Given the description of an element on the screen output the (x, y) to click on. 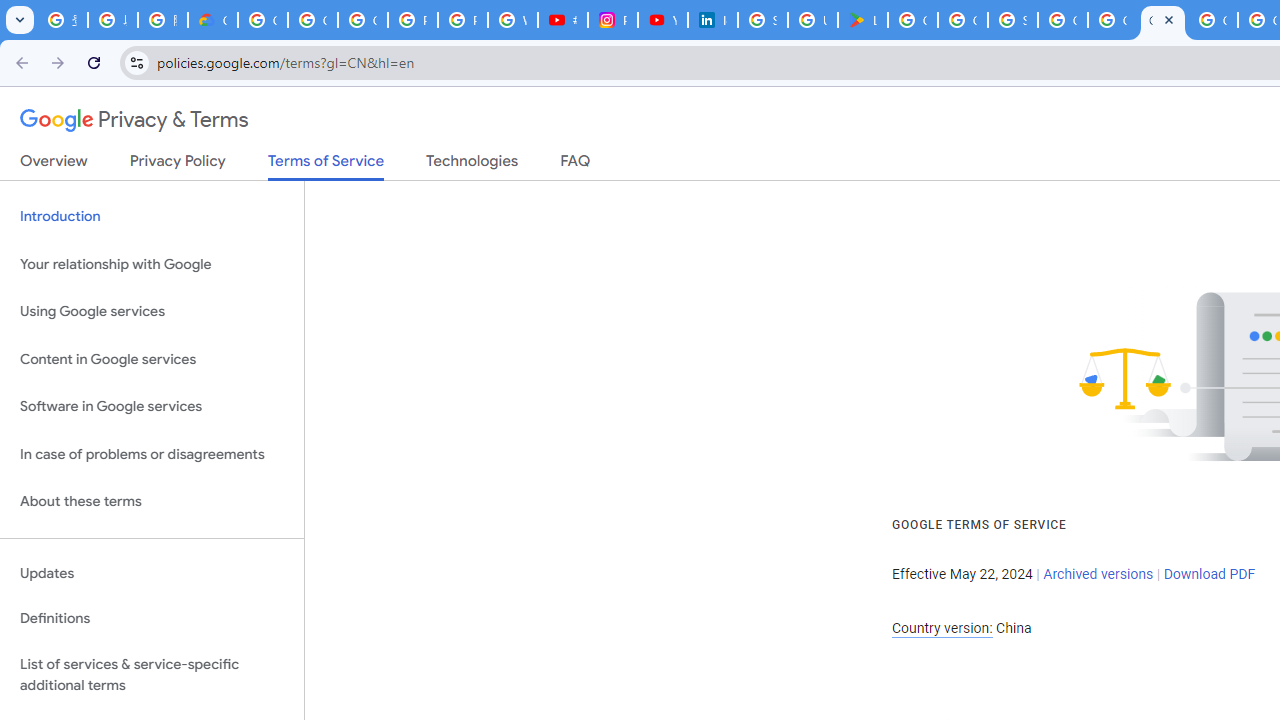
#nbabasketballhighlights - YouTube (562, 20)
Download PDF (1209, 574)
Content in Google services (152, 358)
About these terms (152, 502)
Google Workspace - Specific Terms (963, 20)
Definitions (152, 619)
Country version: (942, 628)
